Given the description of an element on the screen output the (x, y) to click on. 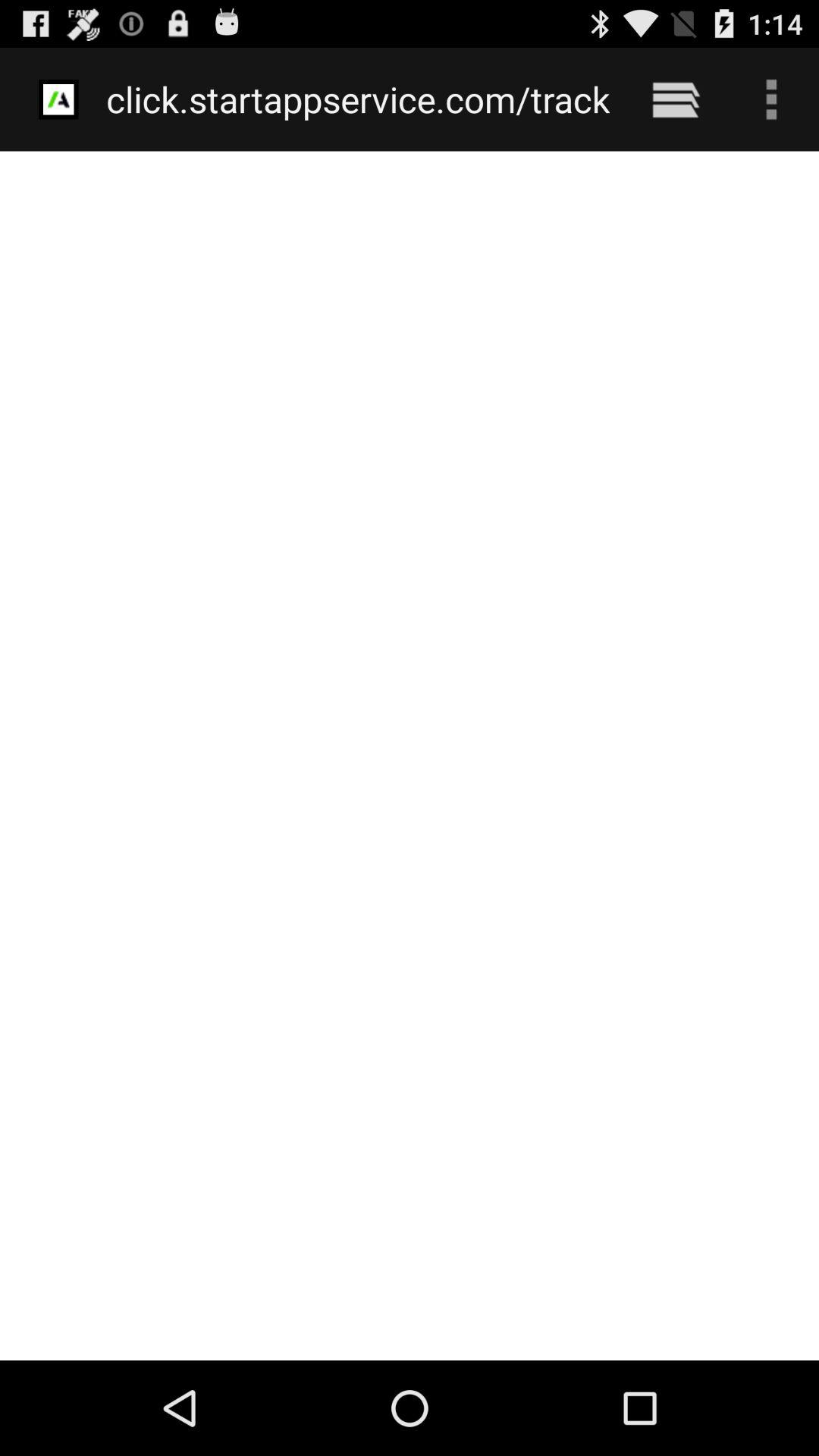
flip to the click startappservice com icon (357, 99)
